Given the description of an element on the screen output the (x, y) to click on. 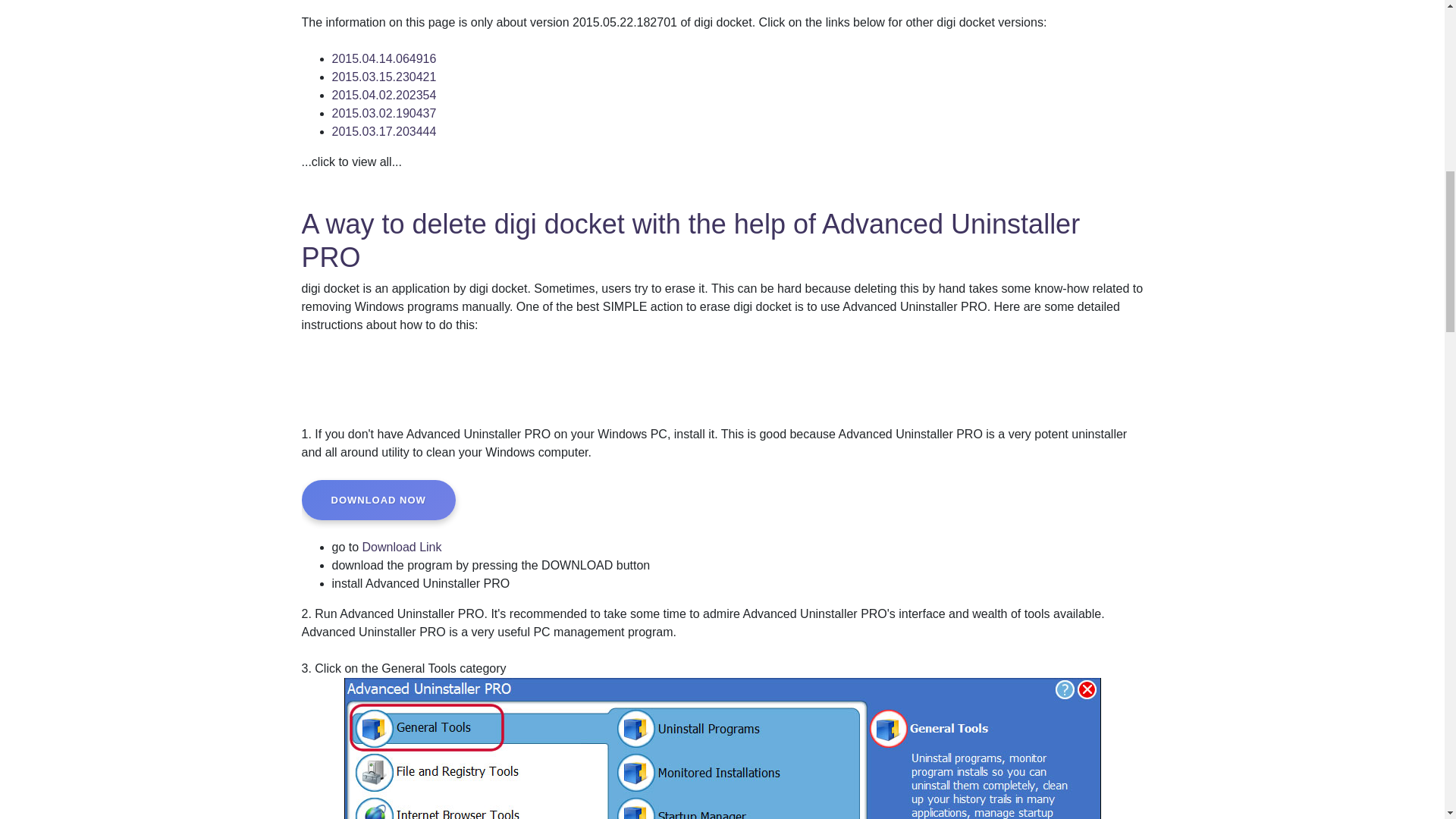
2015.03.02.190437 (383, 113)
2015.03.15.230421 (383, 76)
2015.04.14.064916 (383, 58)
2015.03.17.203444 (383, 131)
2015.04.02.202354 (383, 94)
